Given the description of an element on the screen output the (x, y) to click on. 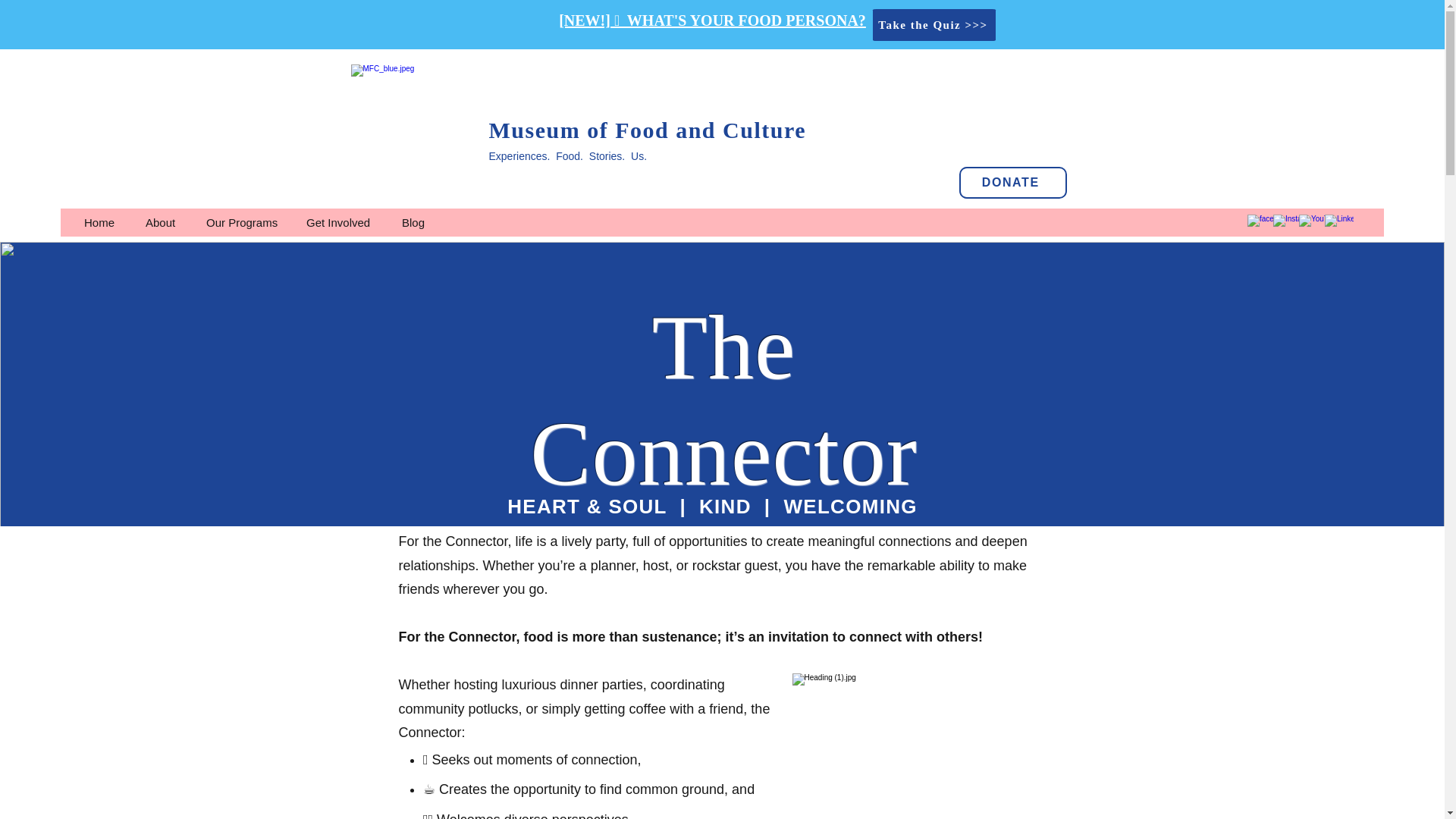
Get Involved (346, 222)
Museum of Food and Culture (646, 129)
Home (107, 222)
DONATE (1011, 183)
Experiences.  Food.  Stories.  Us. (566, 155)
Blog (420, 222)
Our Programs (248, 222)
About (168, 222)
